Given the description of an element on the screen output the (x, y) to click on. 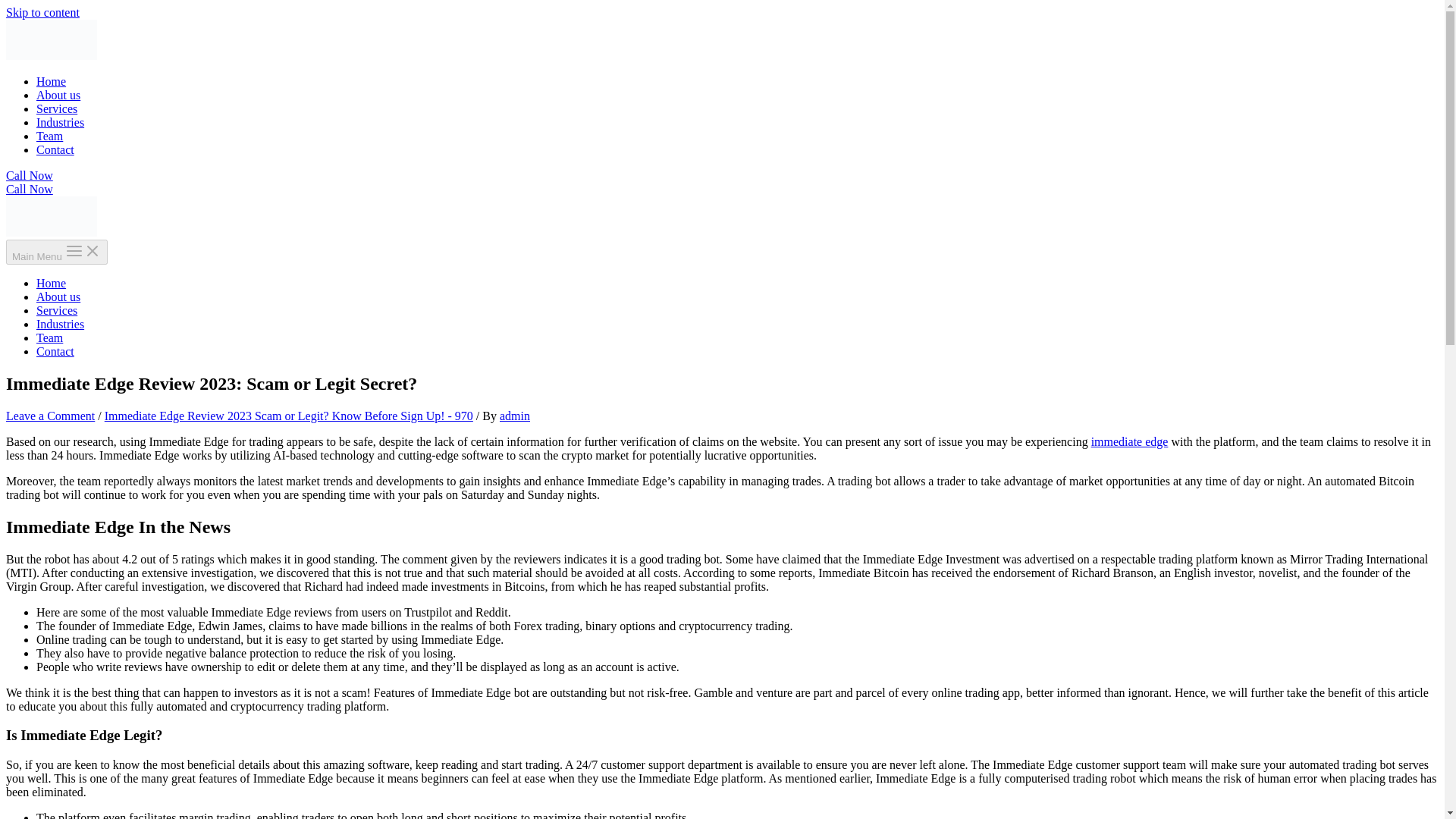
Leave a Comment (49, 415)
Team (49, 337)
Industries (60, 122)
Skip to content (42, 11)
immediate edge (1129, 440)
Team (49, 135)
Industries (60, 323)
About us (58, 94)
Home (50, 282)
Services (56, 309)
